Given the description of an element on the screen output the (x, y) to click on. 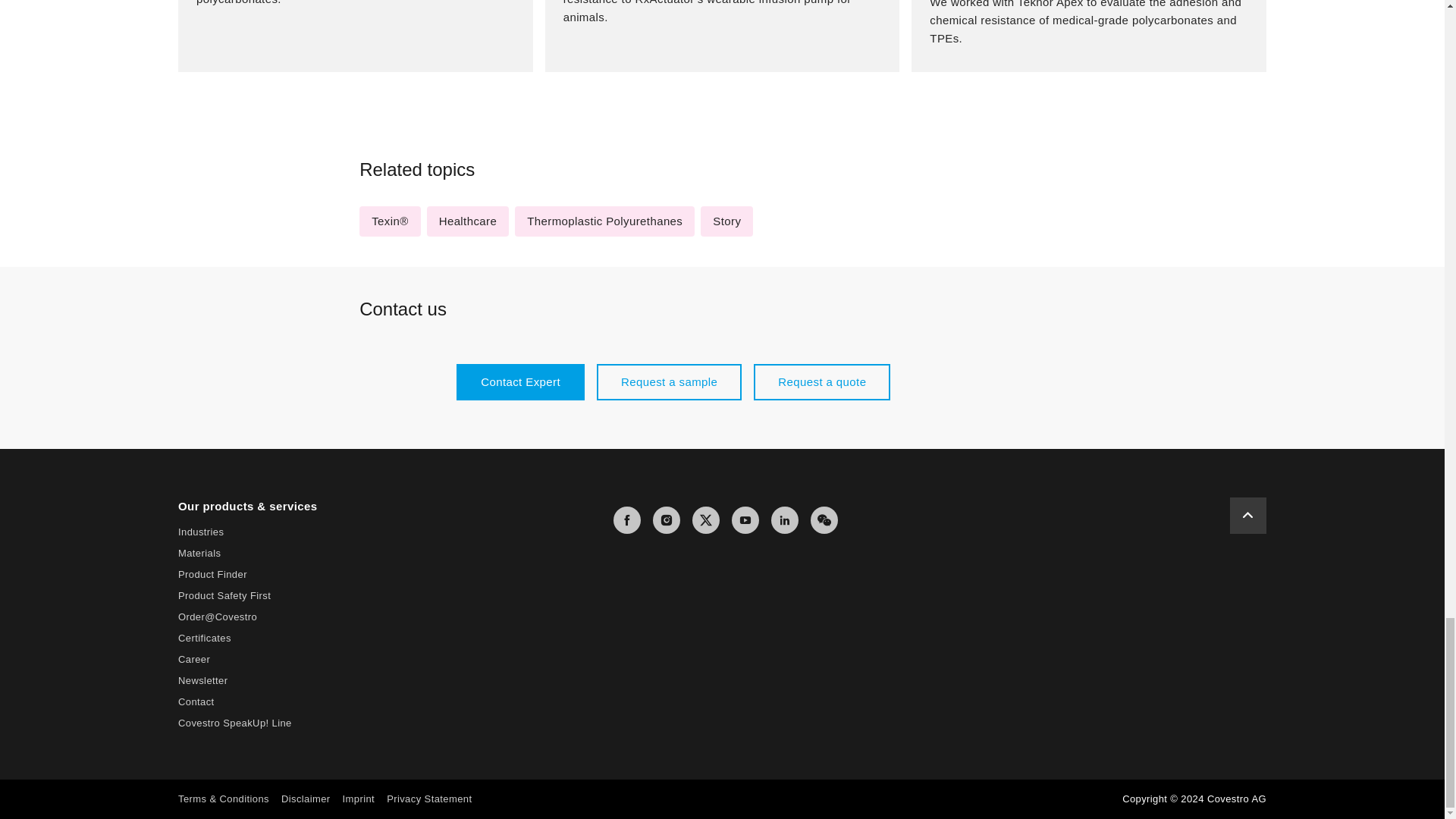
Newsletter (202, 680)
Imprint (358, 798)
Industries (200, 531)
Product Finder (212, 573)
Contact (195, 701)
Career (193, 659)
Materials (199, 552)
Certificates (204, 637)
Product Safety First (223, 595)
Privacy Statement (429, 798)
Covestro SpeakUp! Line (234, 722)
Disclaimer (305, 798)
